Given the description of an element on the screen output the (x, y) to click on. 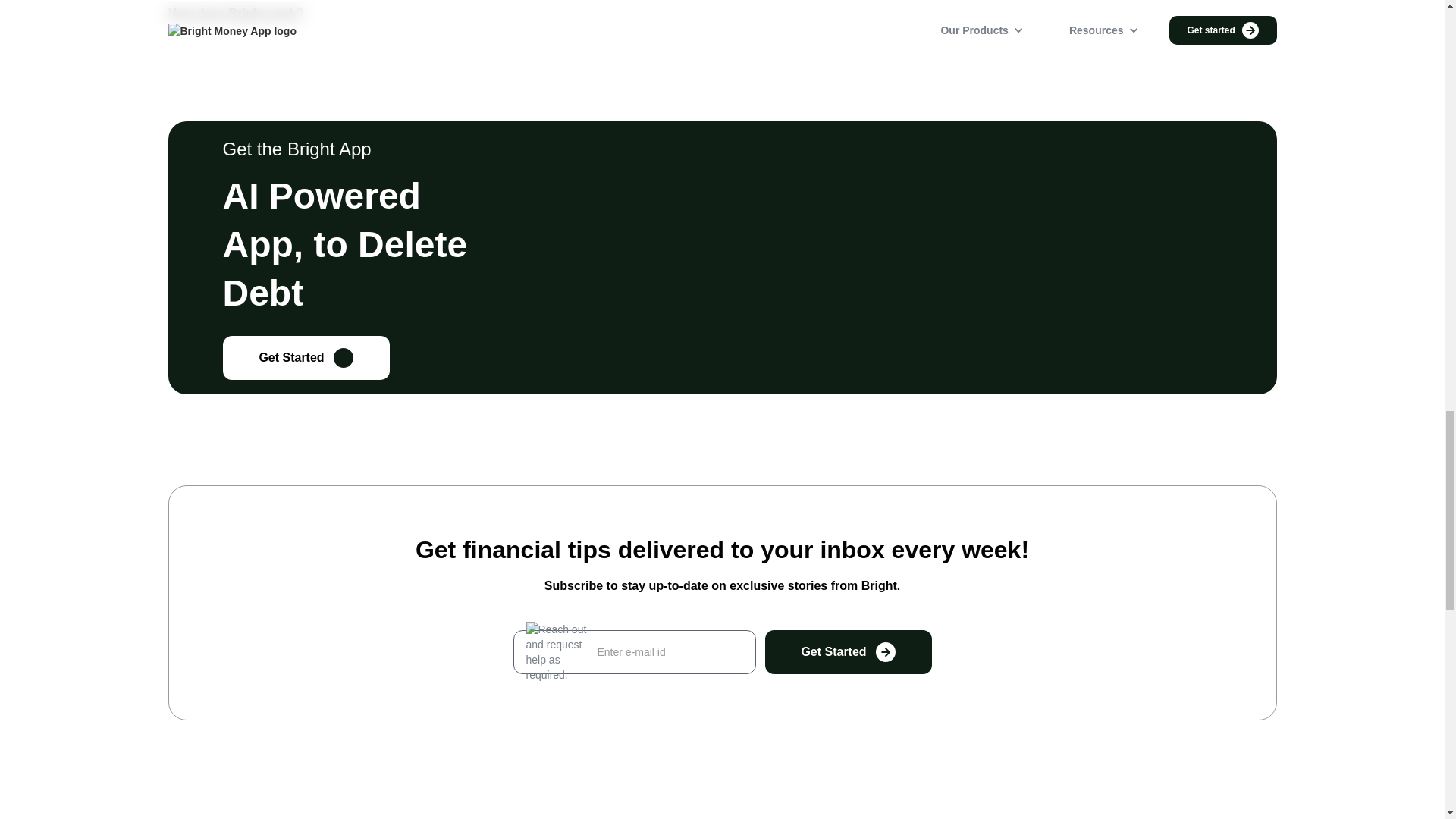
Get Started (306, 357)
How does Bright work? (236, 12)
Get Started (847, 651)
